Given the description of an element on the screen output the (x, y) to click on. 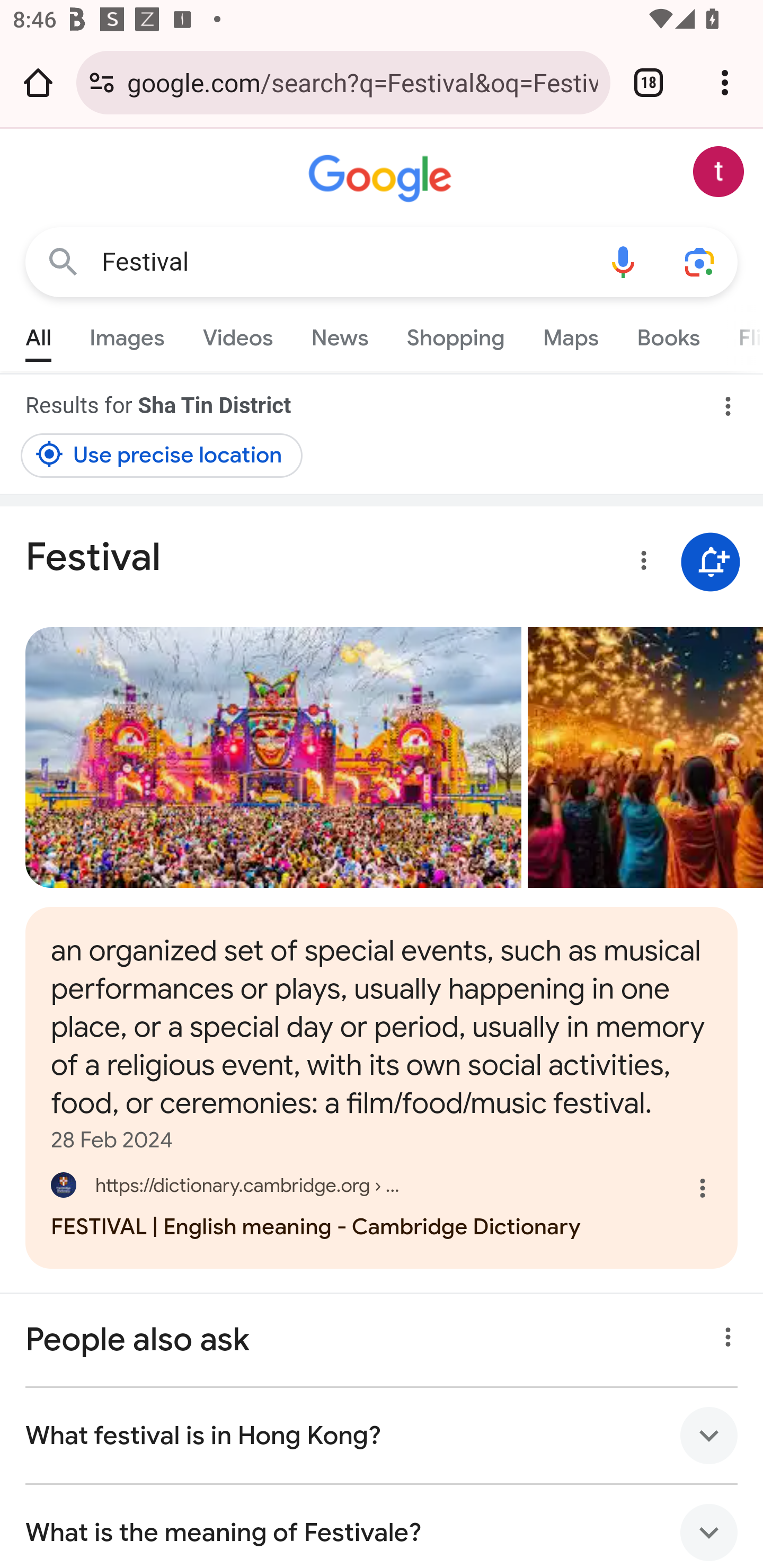
Open the home page (38, 82)
Connection is secure (101, 82)
Switch or close tabs (648, 82)
Customize and control Google Chrome (724, 82)
Google (381, 179)
Google Search (63, 262)
Search using your camera or photos (699, 262)
Festival (343, 261)
Images (127, 333)
Videos (237, 333)
News (338, 333)
Shopping (455, 333)
Maps (570, 333)
Books (668, 333)
Use precise location (161, 455)
Get notifications about Festival (710, 561)
More options (640, 563)
FESTIVAL | English meaning - Cambridge Dictionary (381, 1203)
About this result (723, 1332)
What festival is in Hong Kong? (381, 1435)
What is the meaning of Festivale? (381, 1526)
